Given the description of an element on the screen output the (x, y) to click on. 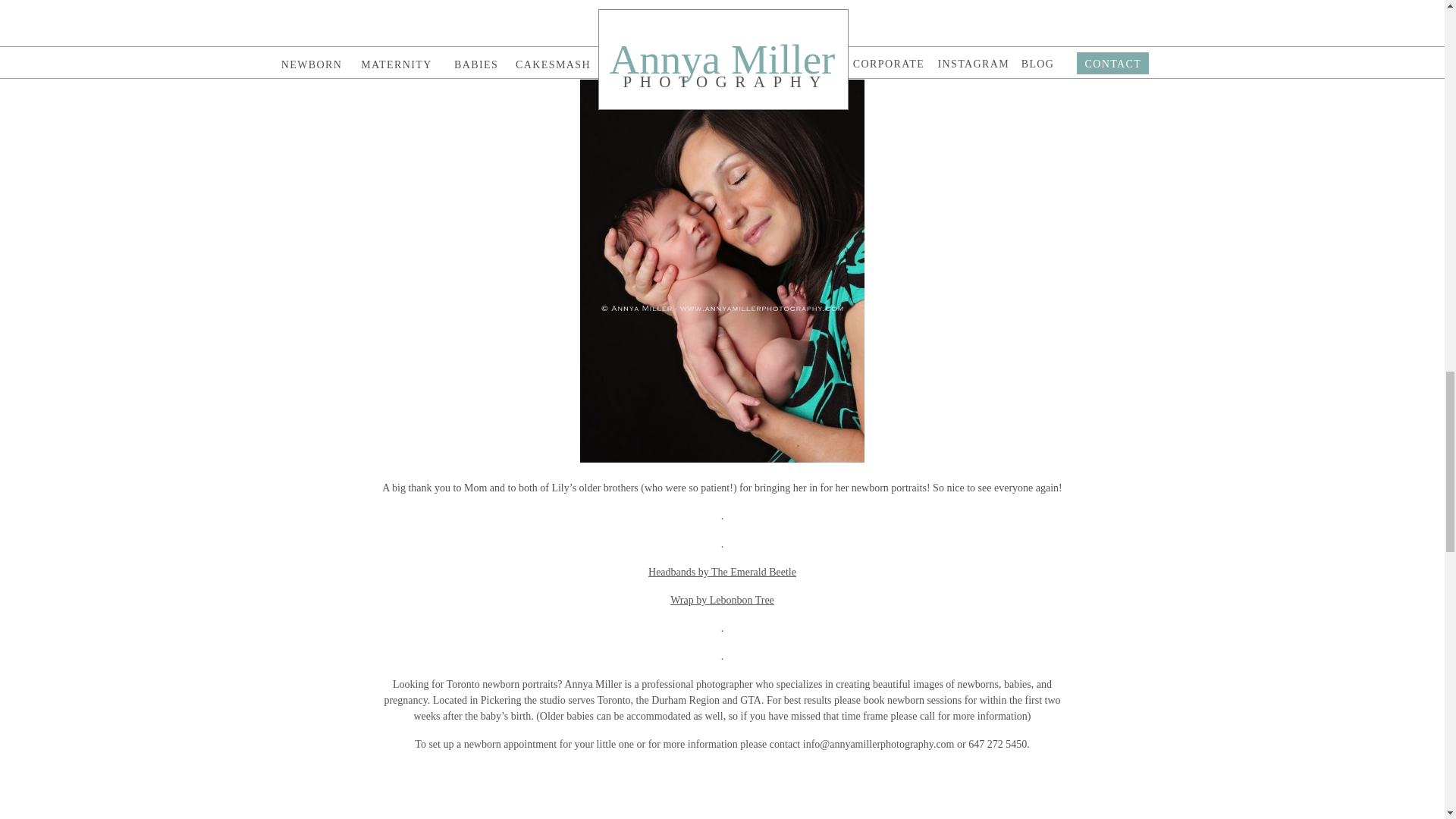
Headbands by The Emerald Beetle (721, 572)
Wrap by Lebonbon Tree (721, 600)
